Given the description of an element on the screen output the (x, y) to click on. 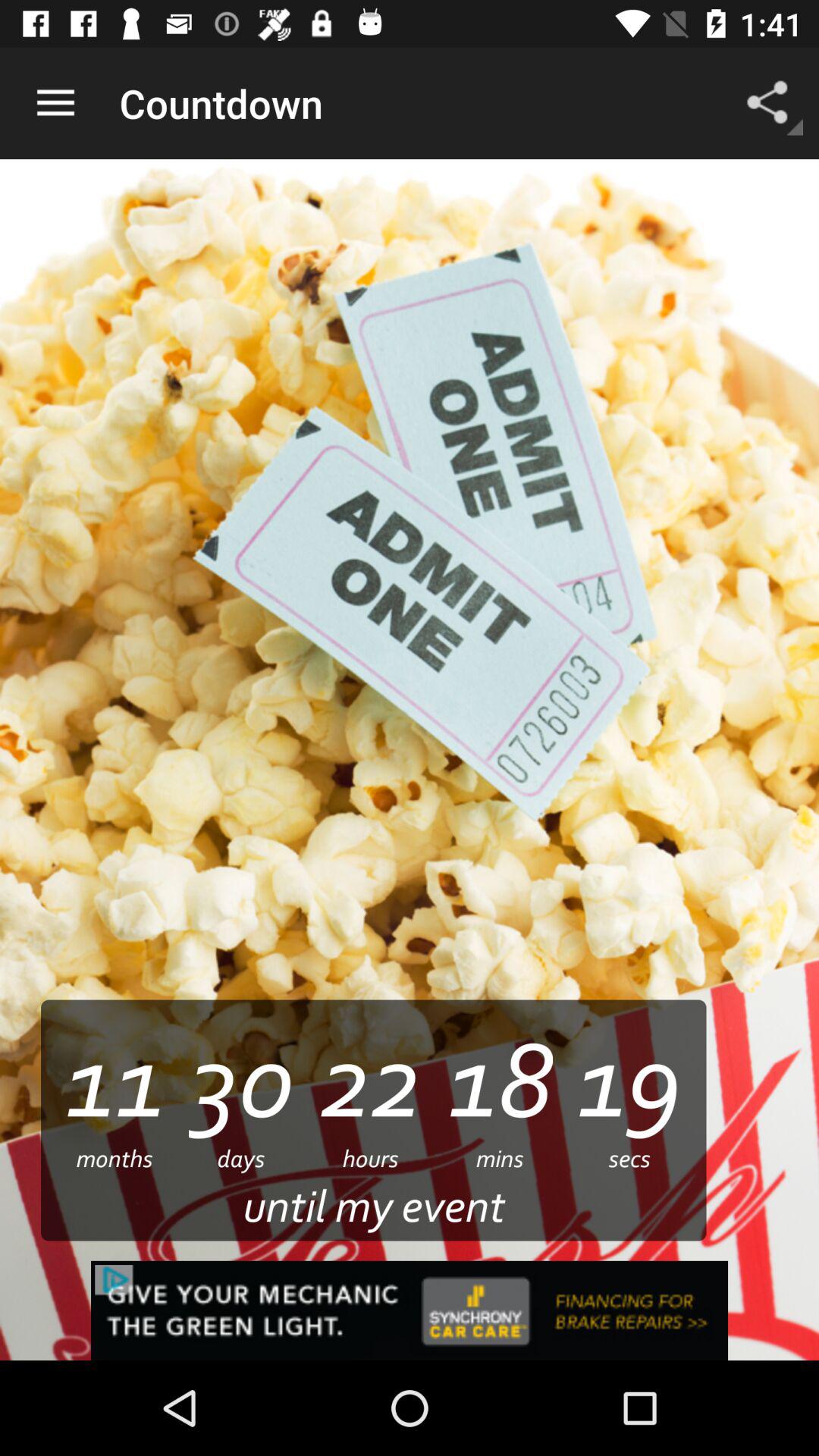
turn on the app to the left of the countdown item (55, 103)
